Given the description of an element on the screen output the (x, y) to click on. 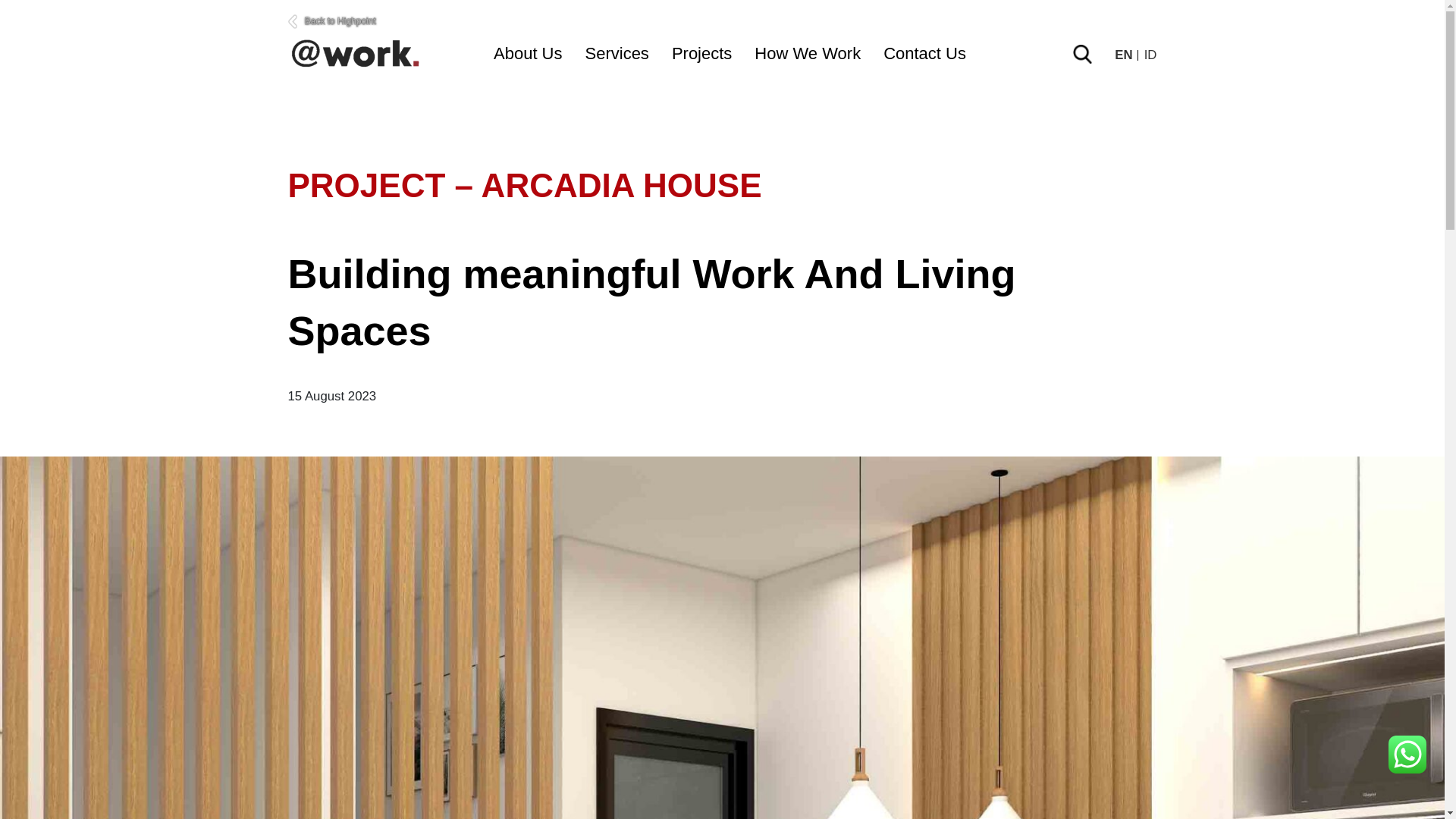
English (1126, 54)
How We Work (807, 53)
Back to Highpoint (722, 21)
Projects (701, 53)
About Us (527, 53)
EN (1126, 54)
Indonesian (1150, 54)
Services (617, 53)
Contact Us (924, 53)
ID (1150, 54)
